Given the description of an element on the screen output the (x, y) to click on. 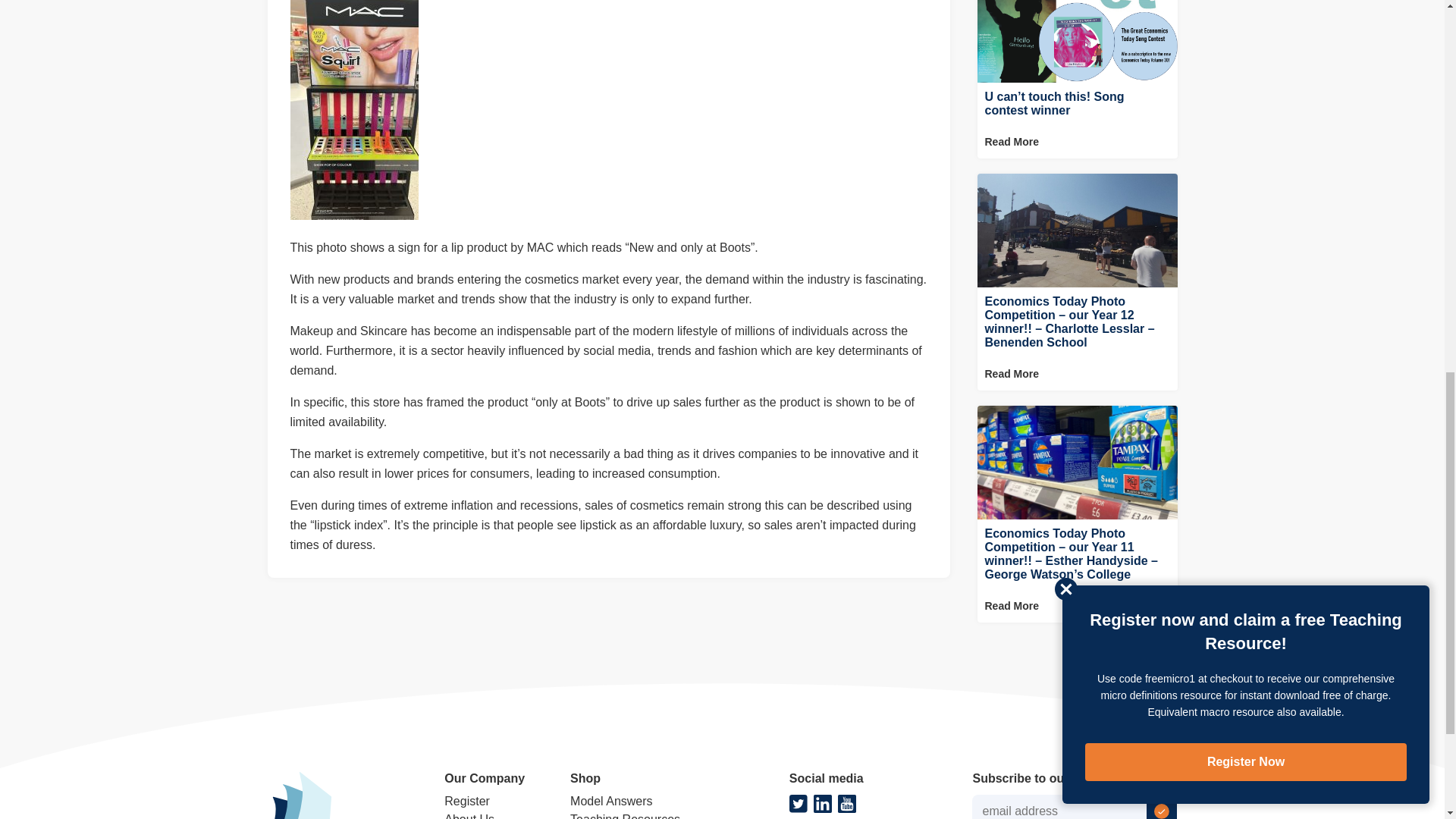
About Us (469, 816)
Model Answers (611, 800)
Register (466, 800)
Subscribe (1161, 806)
Teaching Resources (624, 816)
Subscribe (1161, 806)
